Given the description of an element on the screen output the (x, y) to click on. 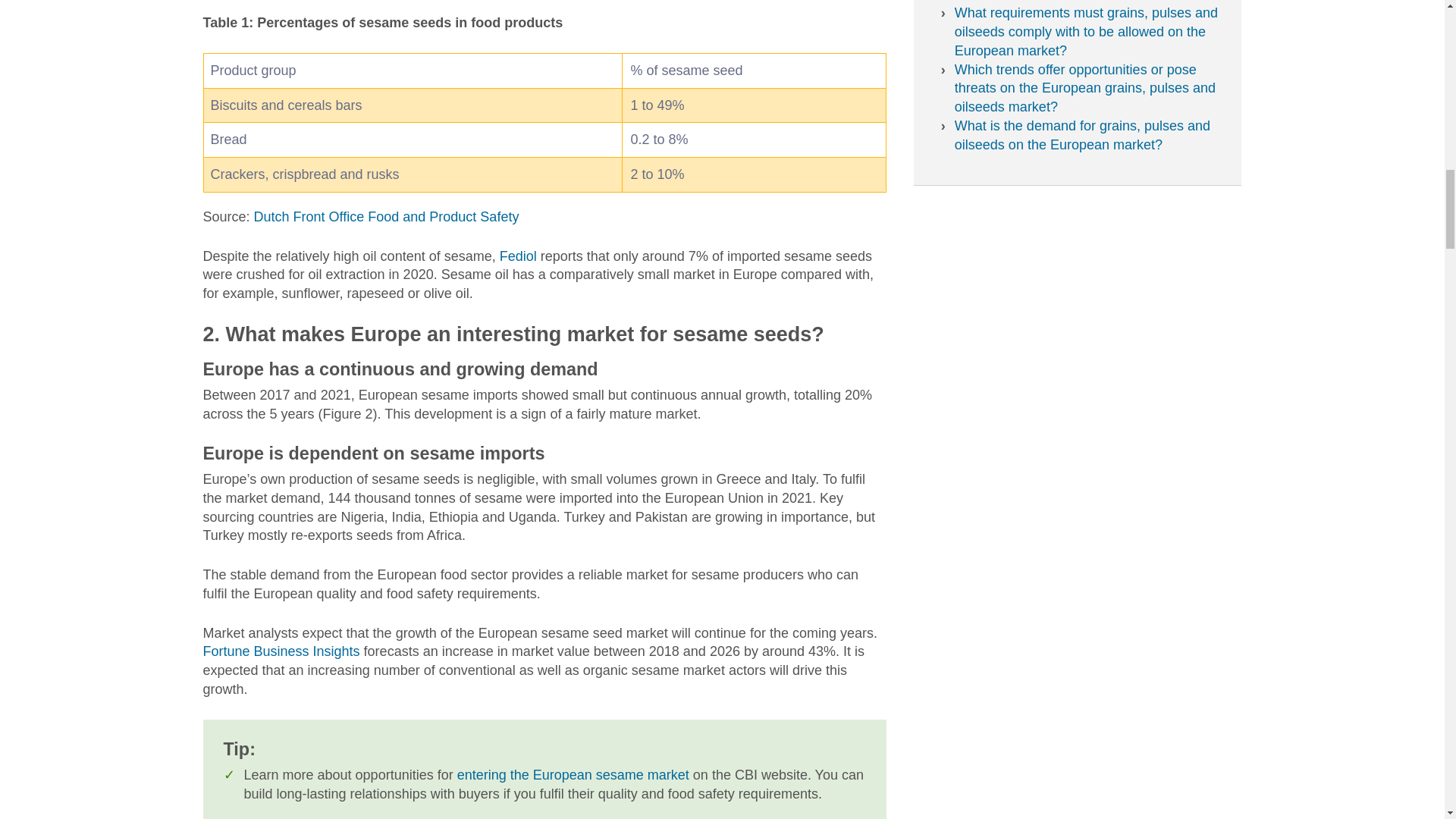
Fediol (518, 255)
Dutch Front Office Food and Product Safety (386, 216)
Fortune Business Insights (281, 651)
entering the European sesame market (572, 774)
